Given the description of an element on the screen output the (x, y) to click on. 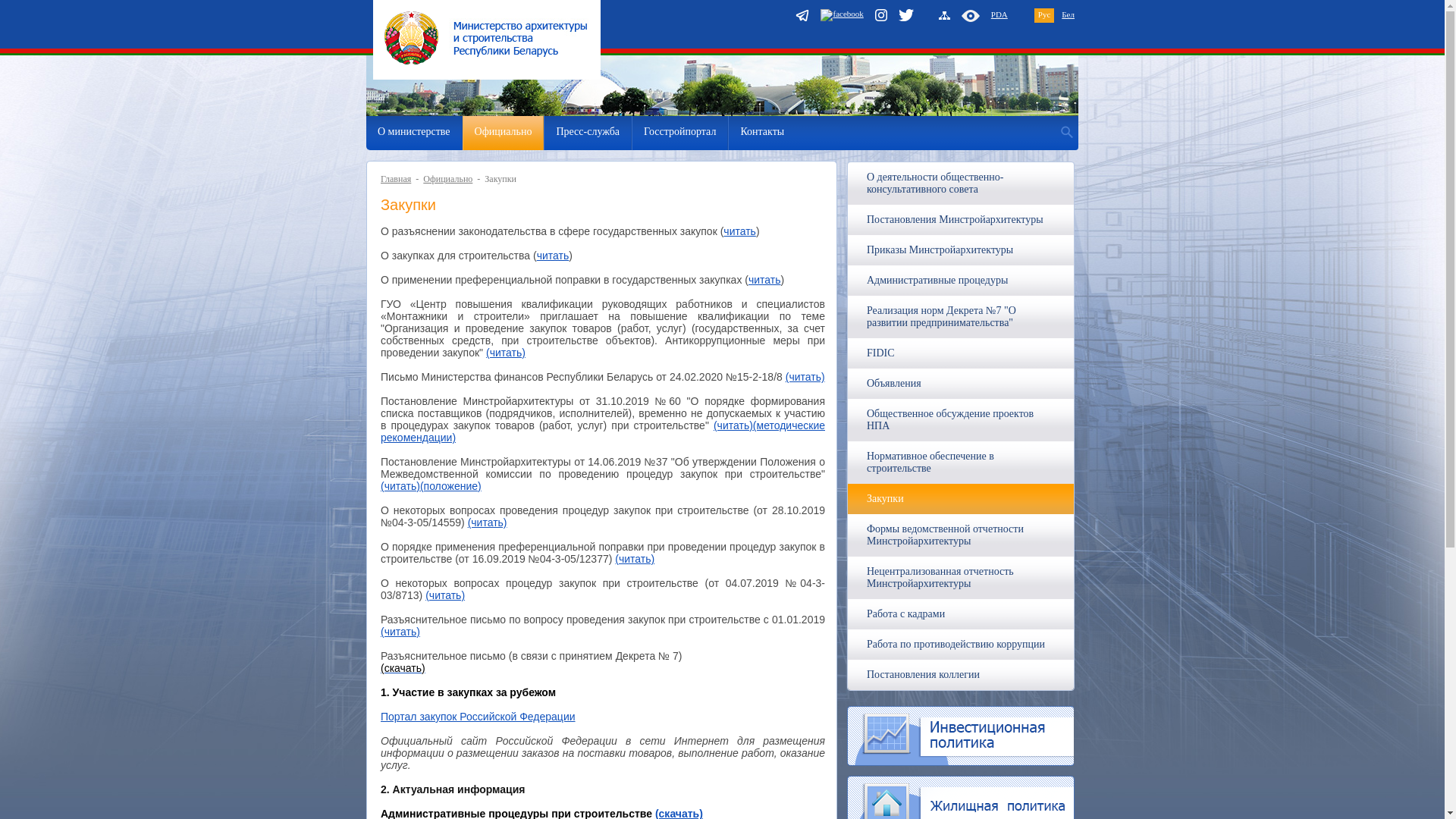
facebook Element type: hover (841, 15)
FIDIC Element type: text (880, 352)
instagram Element type: hover (881, 15)
telegram Element type: hover (802, 16)
Twitter Element type: hover (905, 16)
PDA Element type: text (999, 13)
